Given the description of an element on the screen output the (x, y) to click on. 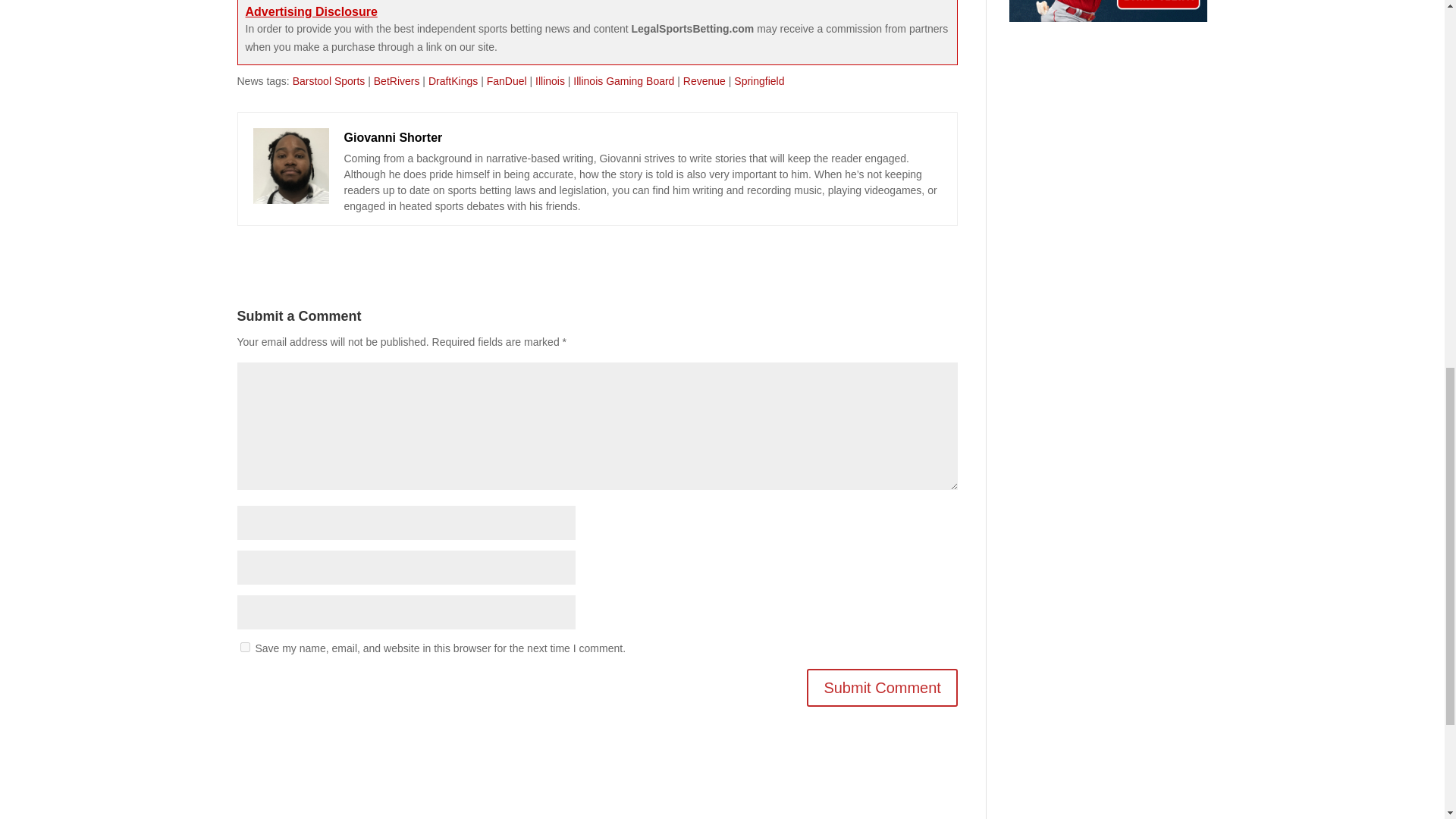
Submit Comment (882, 687)
yes (244, 646)
